Given the description of an element on the screen output the (x, y) to click on. 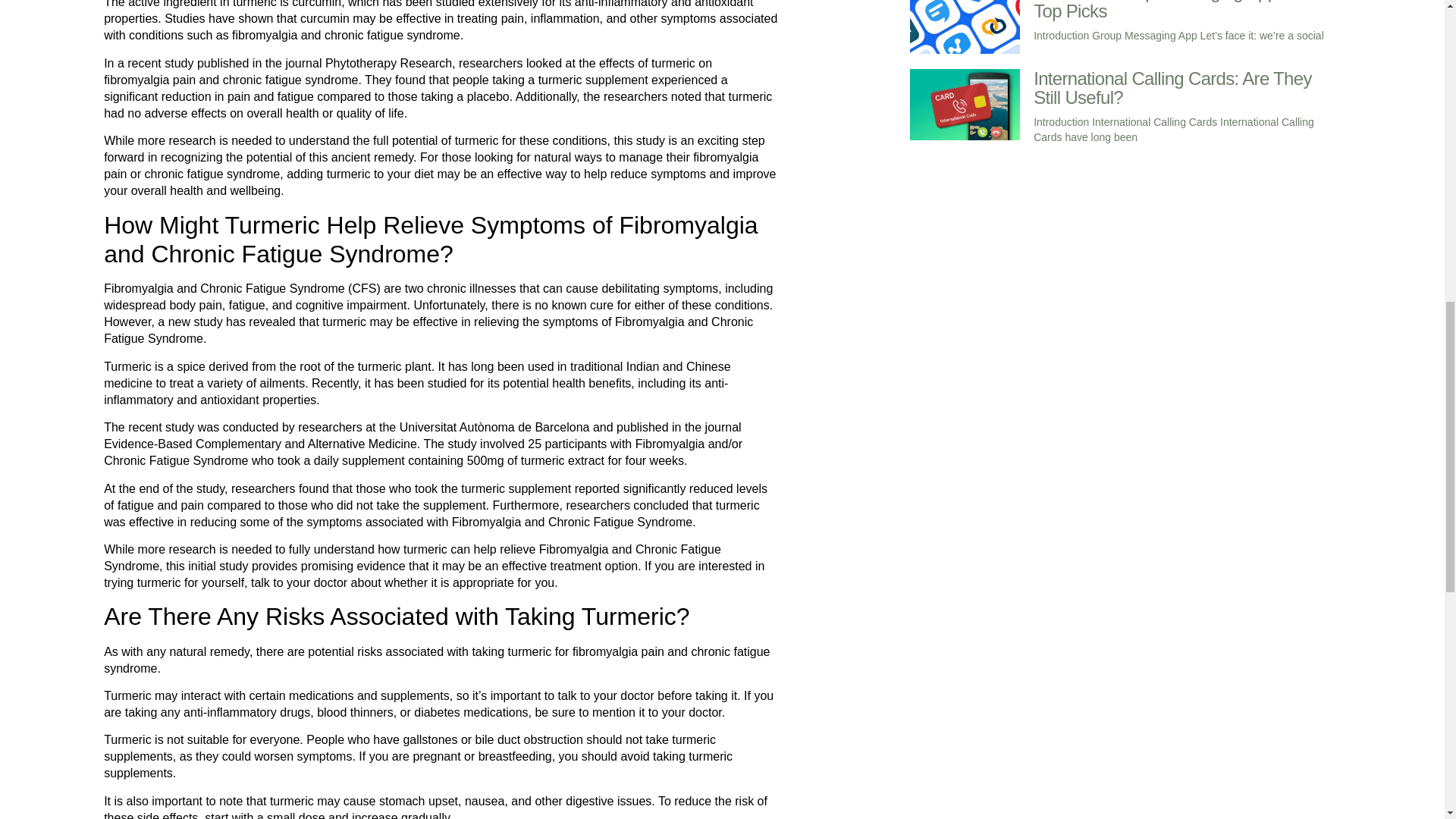
The Best Group Messaging App: Our Top Picks (1173, 10)
International Calling Cards: Are They Still Useful? (1172, 87)
